Given the description of an element on the screen output the (x, y) to click on. 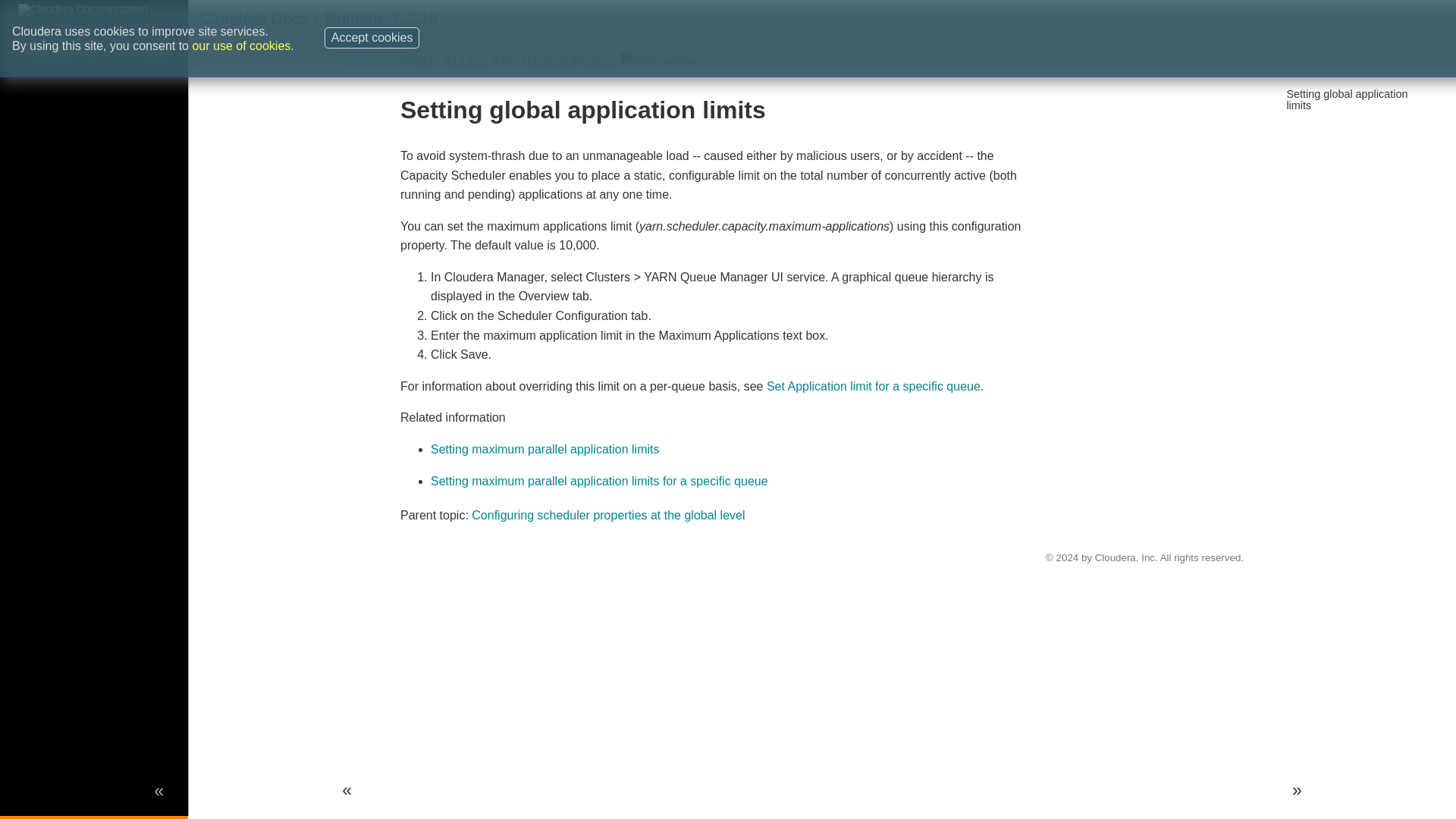
Accept cookies (372, 17)
YARN ALLOCATE RESOURCES (507, 61)
Setting global application limits (1346, 99)
Set Application limit for a specific queue (873, 386)
Setting maximum parallel application limits (544, 449)
Runtime (354, 18)
Cloudera Docs (254, 18)
Configuring scheduler properties at the global level (607, 514)
